Given the description of an element on the screen output the (x, y) to click on. 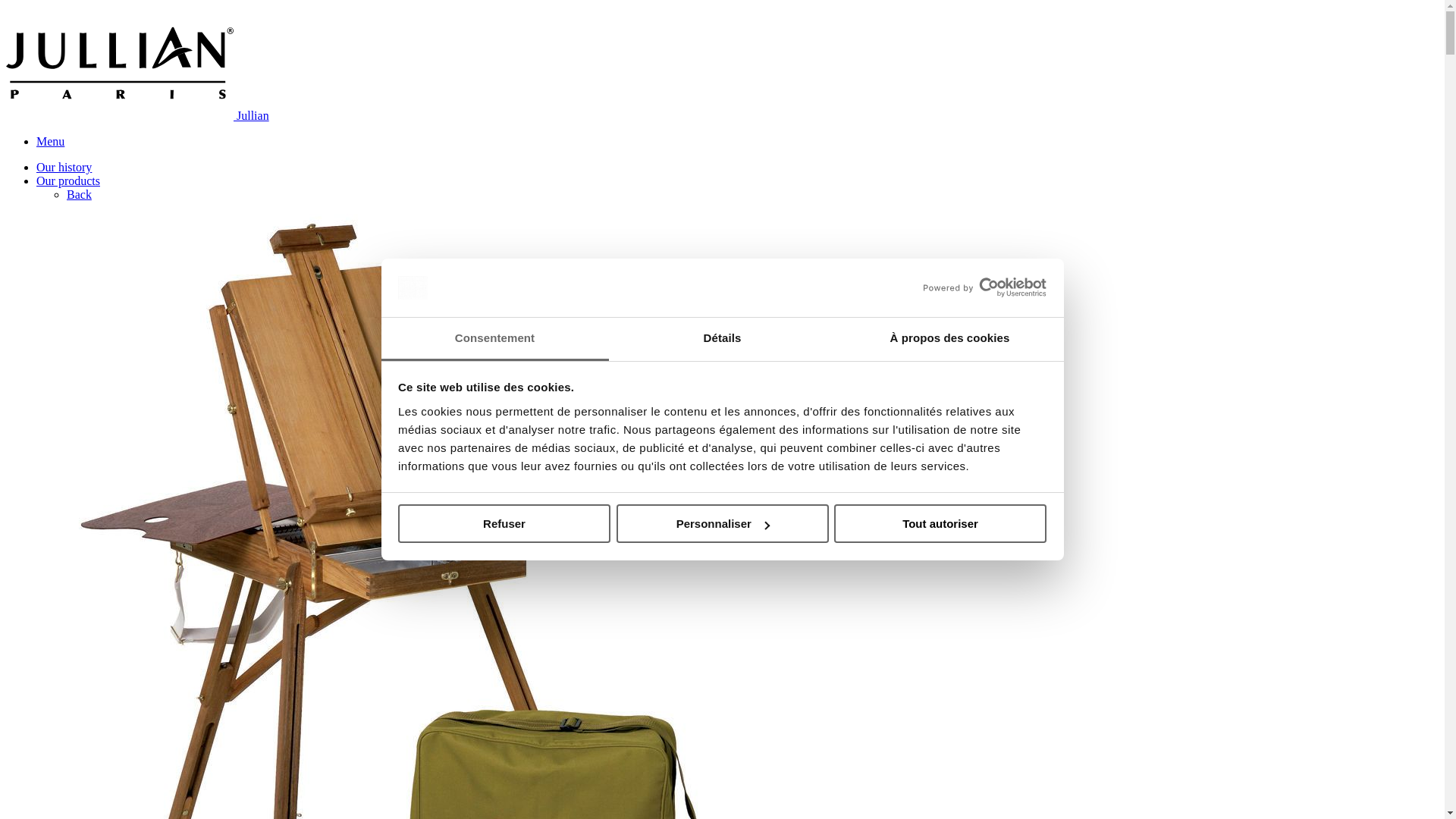
Our history (63, 166)
Back (78, 194)
Our products (68, 180)
Tout autoriser (940, 523)
Refuser (503, 523)
Consentement (494, 339)
Personnaliser (721, 523)
Menu (50, 141)
